Given the description of an element on the screen output the (x, y) to click on. 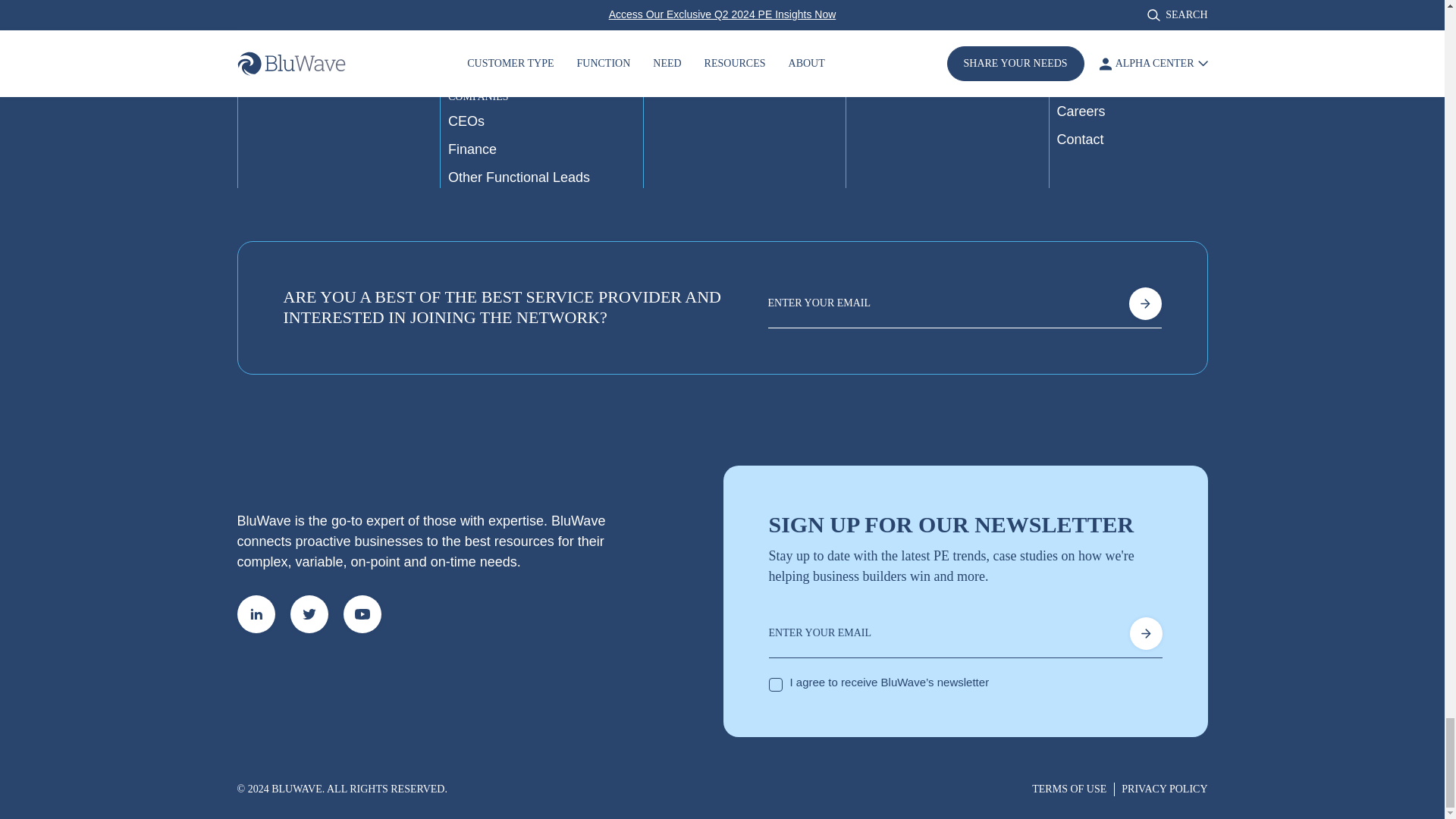
Send (1144, 303)
Send (1145, 633)
